Given the description of an element on the screen output the (x, y) to click on. 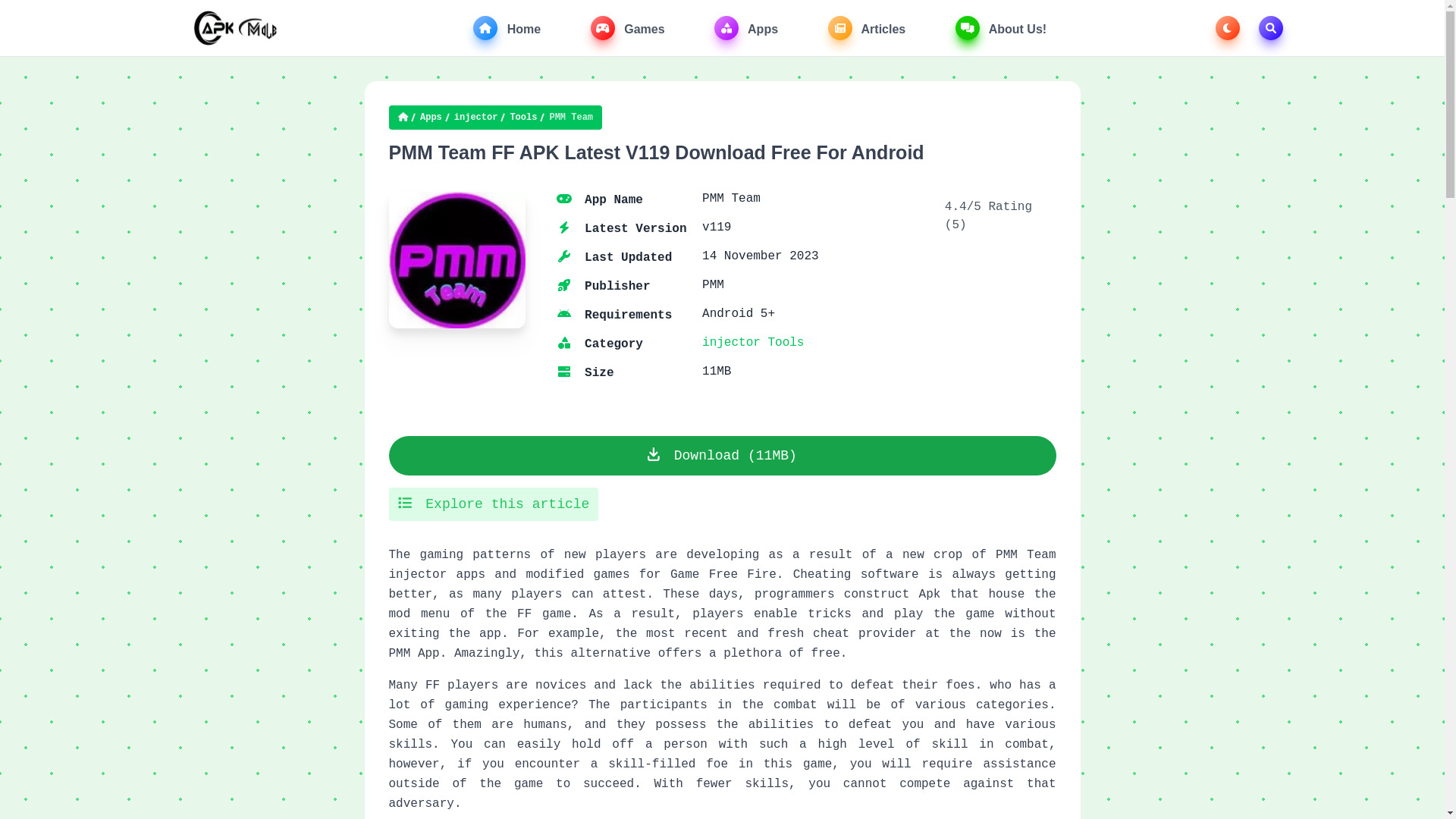
Articles Element type: text (867, 27)
Home Element type: text (506, 27)
Apps Element type: text (431, 117)
Toggle Search Element type: hover (1270, 27)
Explore this article Element type: text (493, 503)
Tools Element type: text (785, 341)
injector Element type: text (476, 117)
Tools Element type: text (522, 117)
About Us! Element type: text (1000, 27)
Games Element type: text (627, 27)
injector Element type: text (731, 341)
Toggle Dark Mode Element type: hover (1227, 27)
Download (11MB) Element type: text (721, 454)
Apps Element type: text (746, 27)
